Given the description of an element on the screen output the (x, y) to click on. 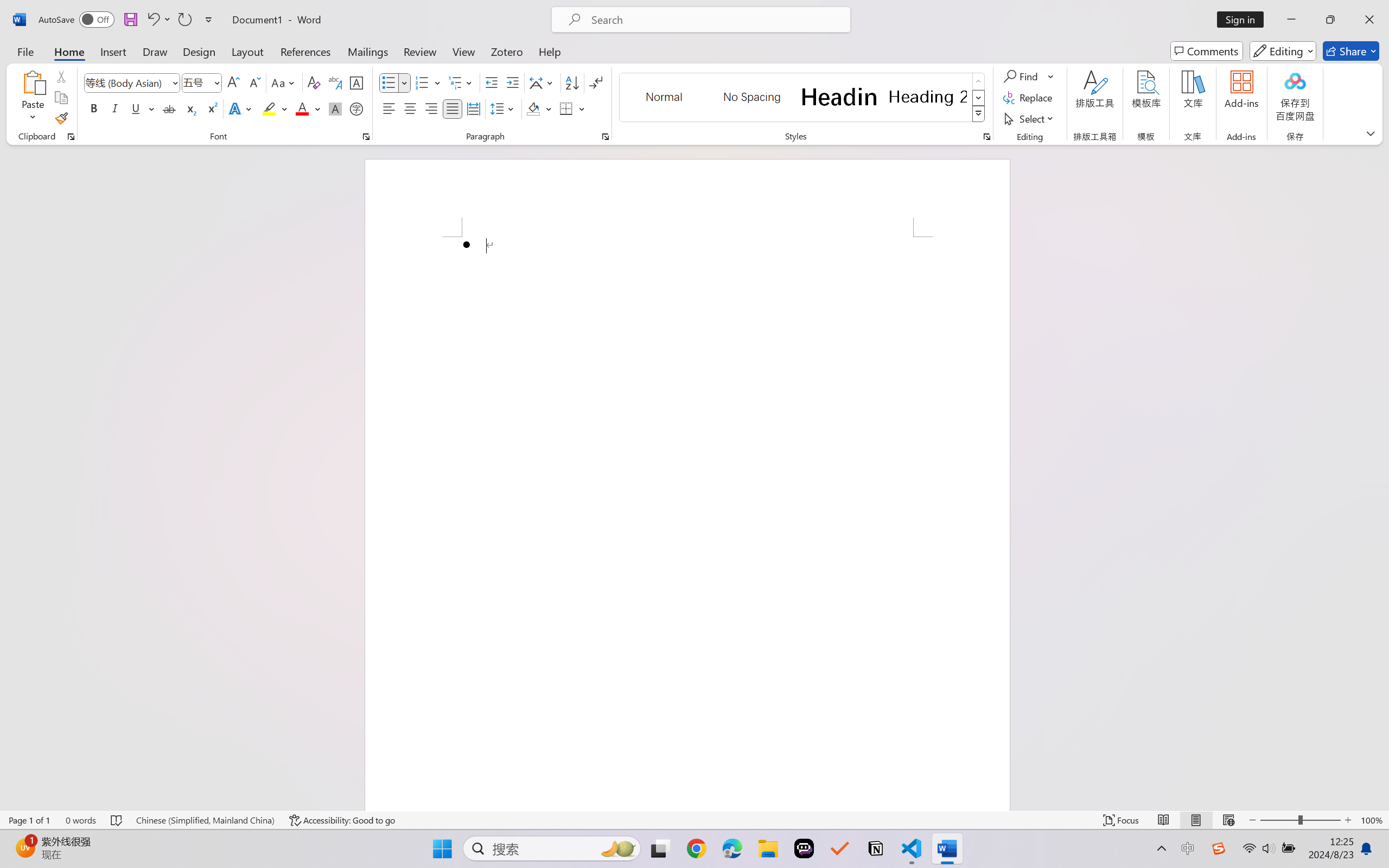
Undo Bullet Default (158, 19)
